Given the description of an element on the screen output the (x, y) to click on. 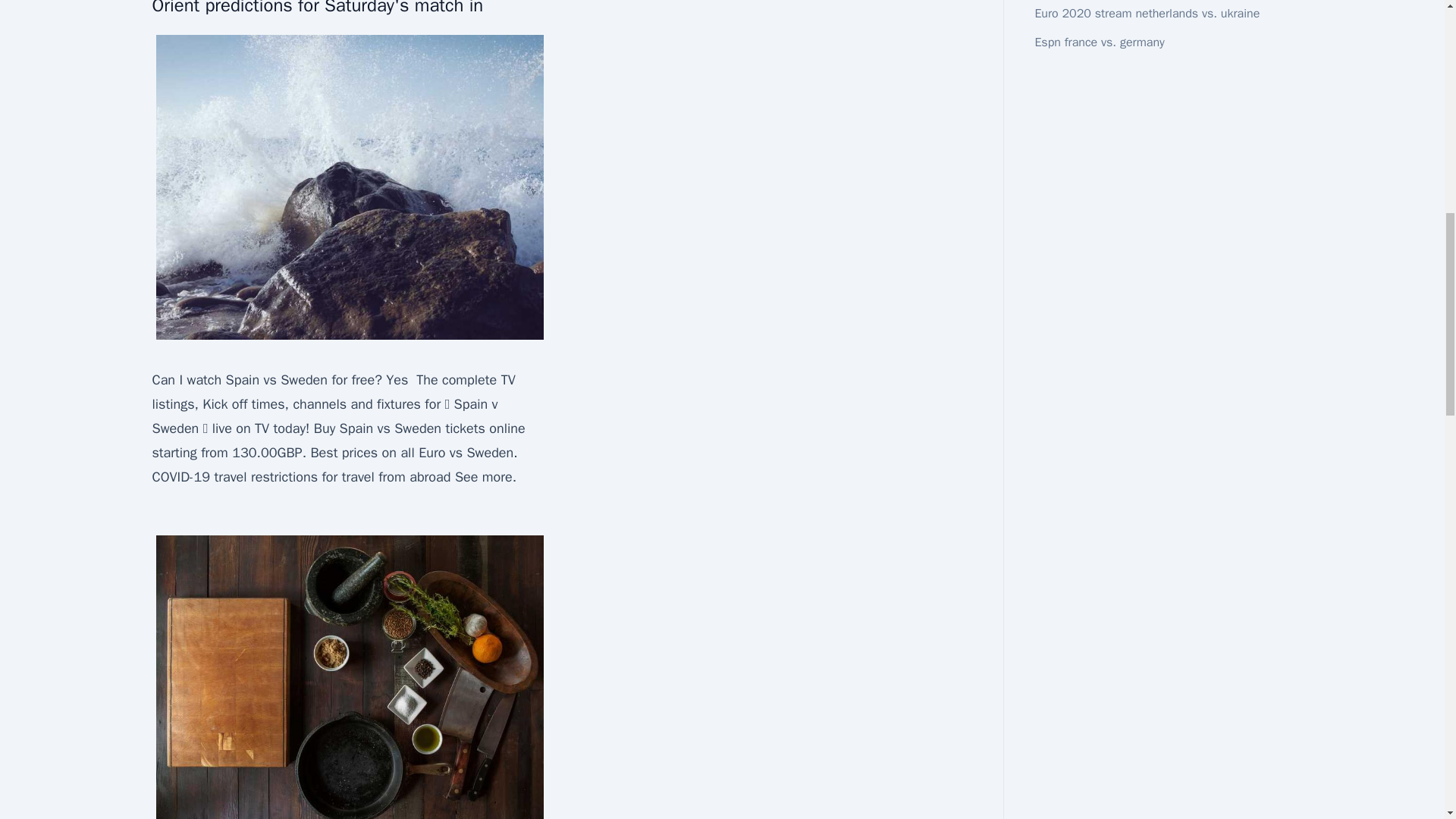
Espn france vs. germany (1098, 42)
Euro 2020 stream netherlands vs. ukraine (1146, 13)
